Given the description of an element on the screen output the (x, y) to click on. 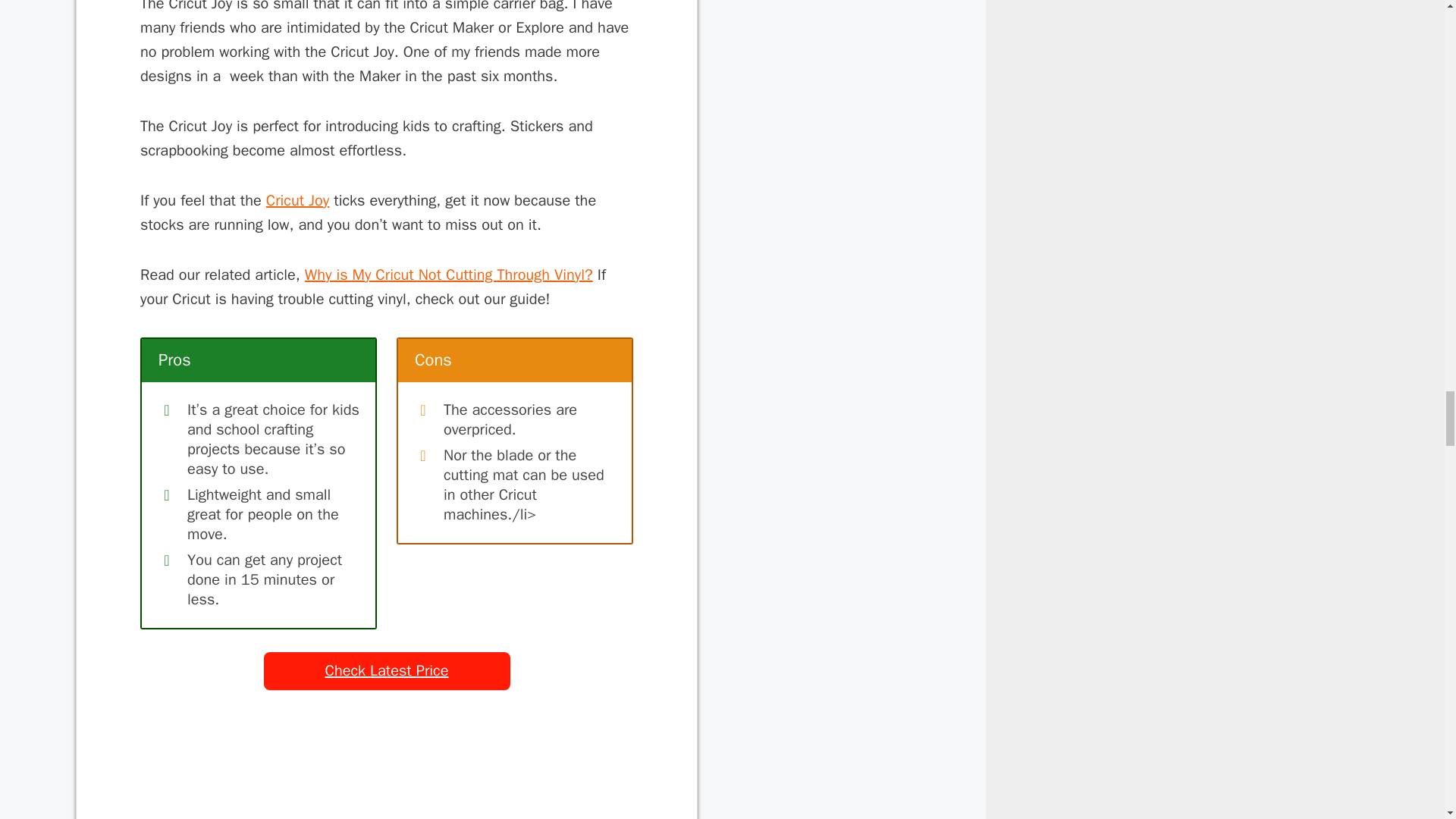
Cricut Joy (297, 199)
Why is My Cricut Not Cutting Through Vinyl? (448, 274)
Check Latest Price (387, 670)
